Given the description of an element on the screen output the (x, y) to click on. 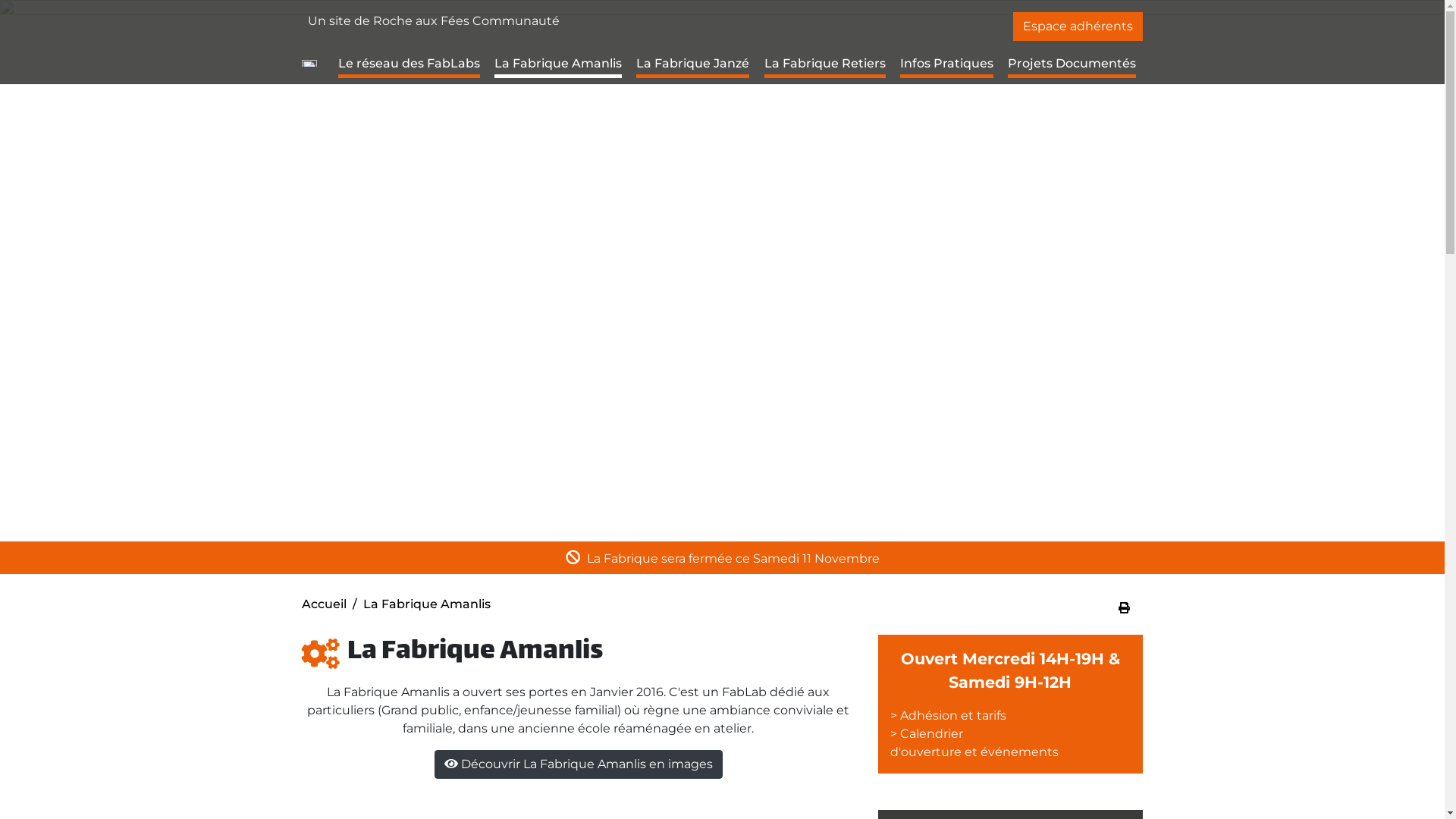
Accueil Element type: text (323, 604)
Aller au contenu principal Element type: text (721, 1)
La Fabrique Amanlis Element type: text (557, 63)
La Fabrique Retiers Element type: text (824, 63)
